Given the description of an element on the screen output the (x, y) to click on. 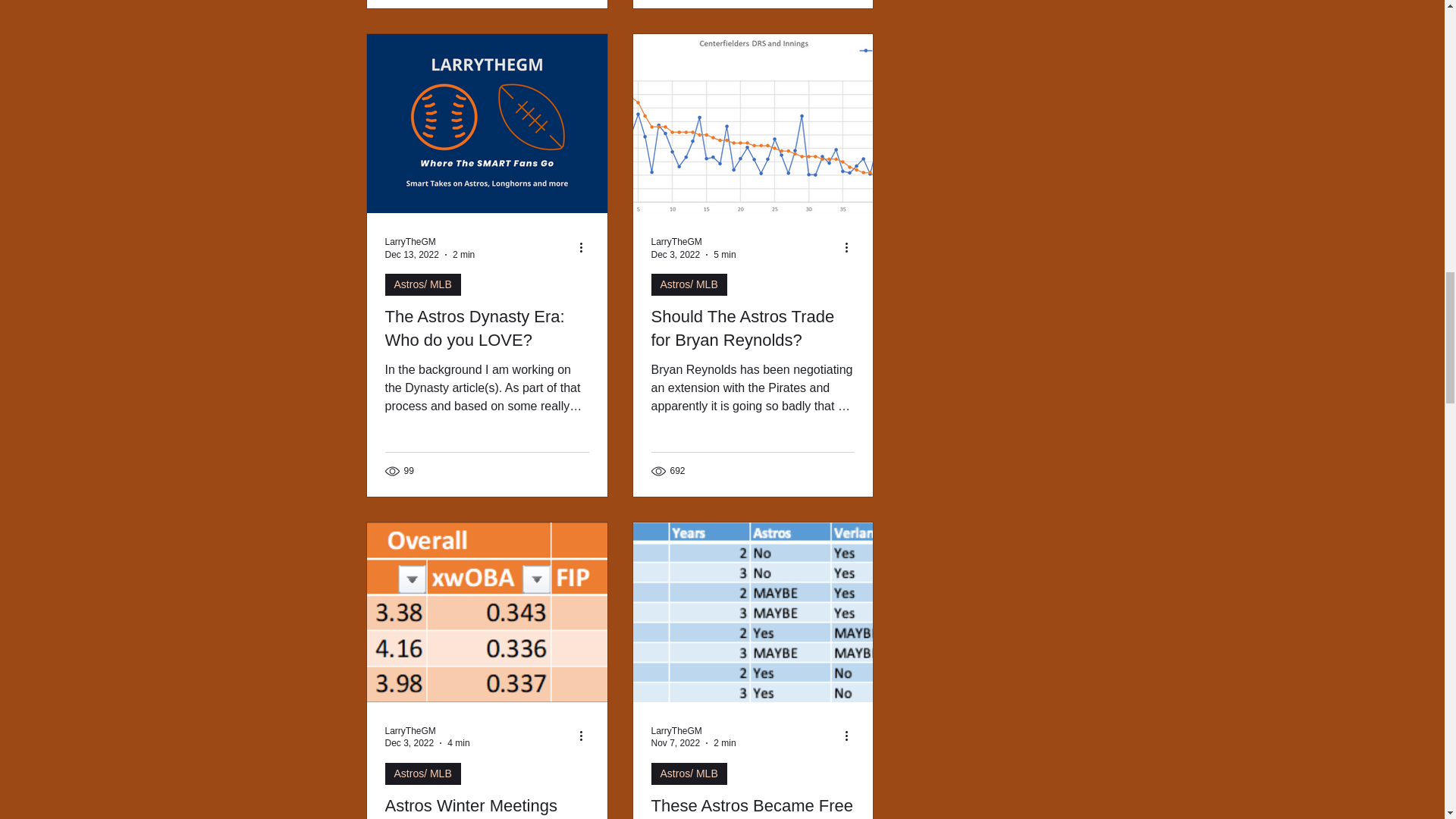
Dec 3, 2022 (409, 742)
Nov 7, 2022 (675, 742)
LarryTheGM (427, 730)
LarryTheGM (430, 242)
Dec 13, 2022 (412, 254)
Dec 3, 2022 (675, 254)
2 min (463, 254)
Should The Astros Trade for Bryan Reynolds? (751, 328)
The Astros Dynasty Era: Who do you LOVE? (487, 328)
LarryTheGM (410, 241)
4 min (457, 742)
LarryTheGM (675, 241)
5 min (724, 254)
LarryTheGM (410, 730)
LarryTheGM (675, 730)
